Given the description of an element on the screen output the (x, y) to click on. 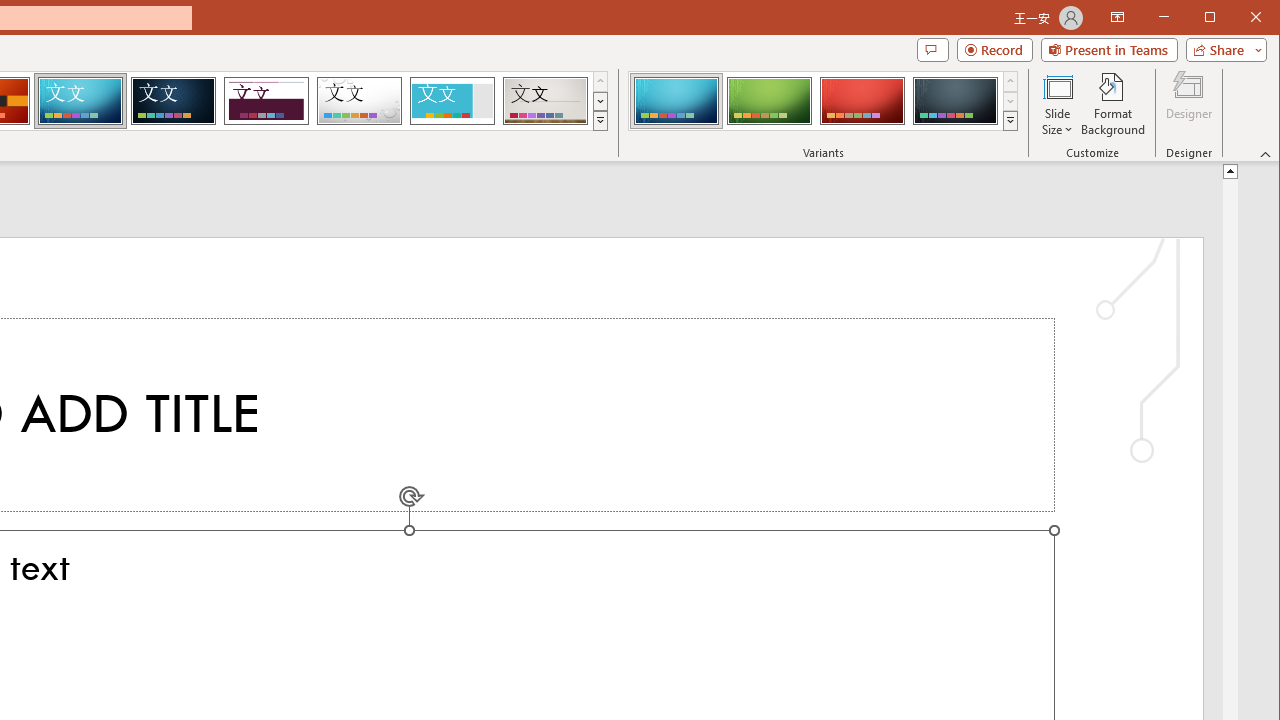
Damask (173, 100)
Themes (600, 120)
Format Background (1113, 104)
Droplet (359, 100)
Variants (1010, 120)
AutomationID: ThemeVariantsGallery (824, 101)
Circuit Variant 3 (862, 100)
